Given the description of an element on the screen output the (x, y) to click on. 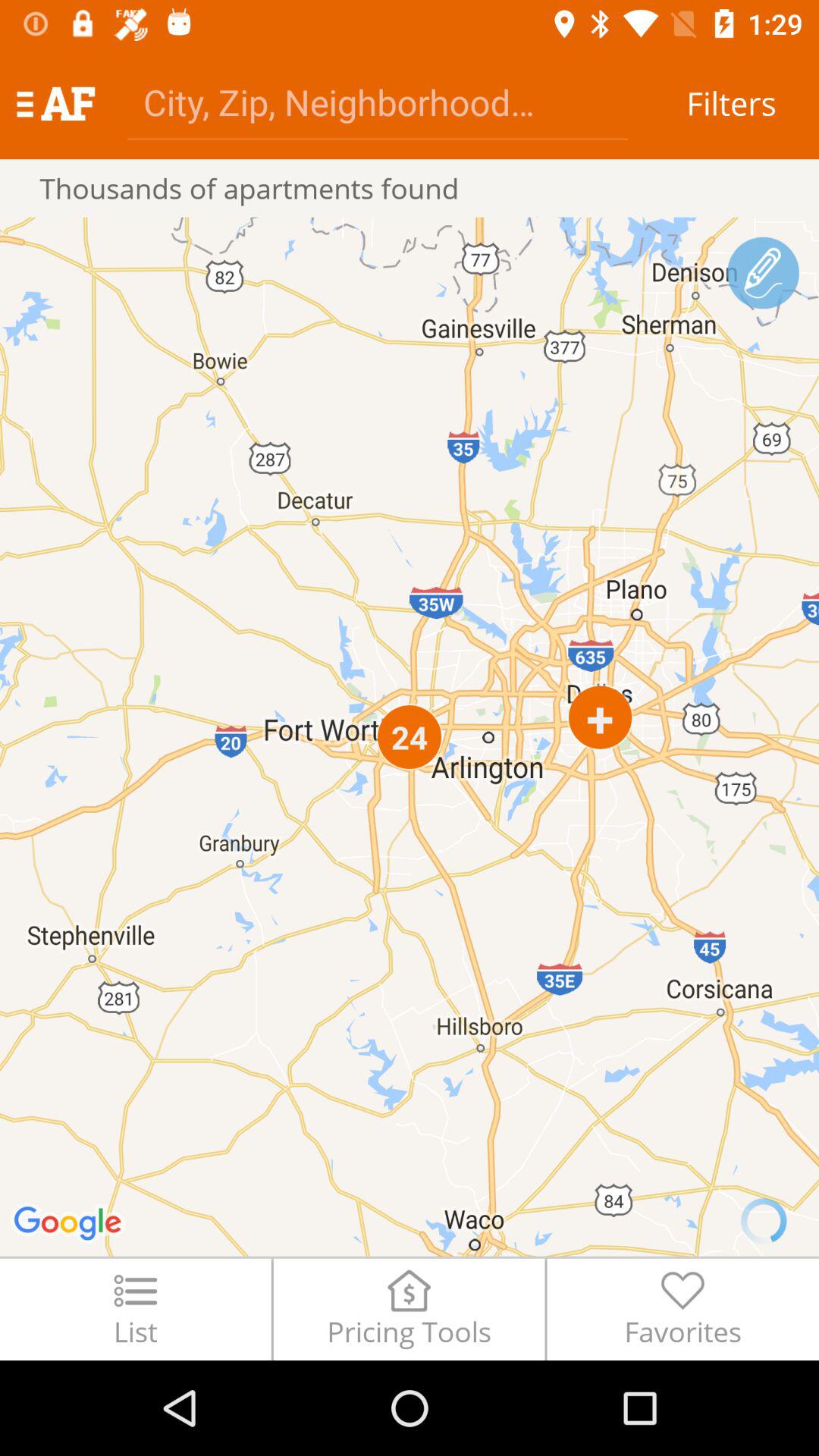
select the list (135, 1309)
